Given the description of an element on the screen output the (x, y) to click on. 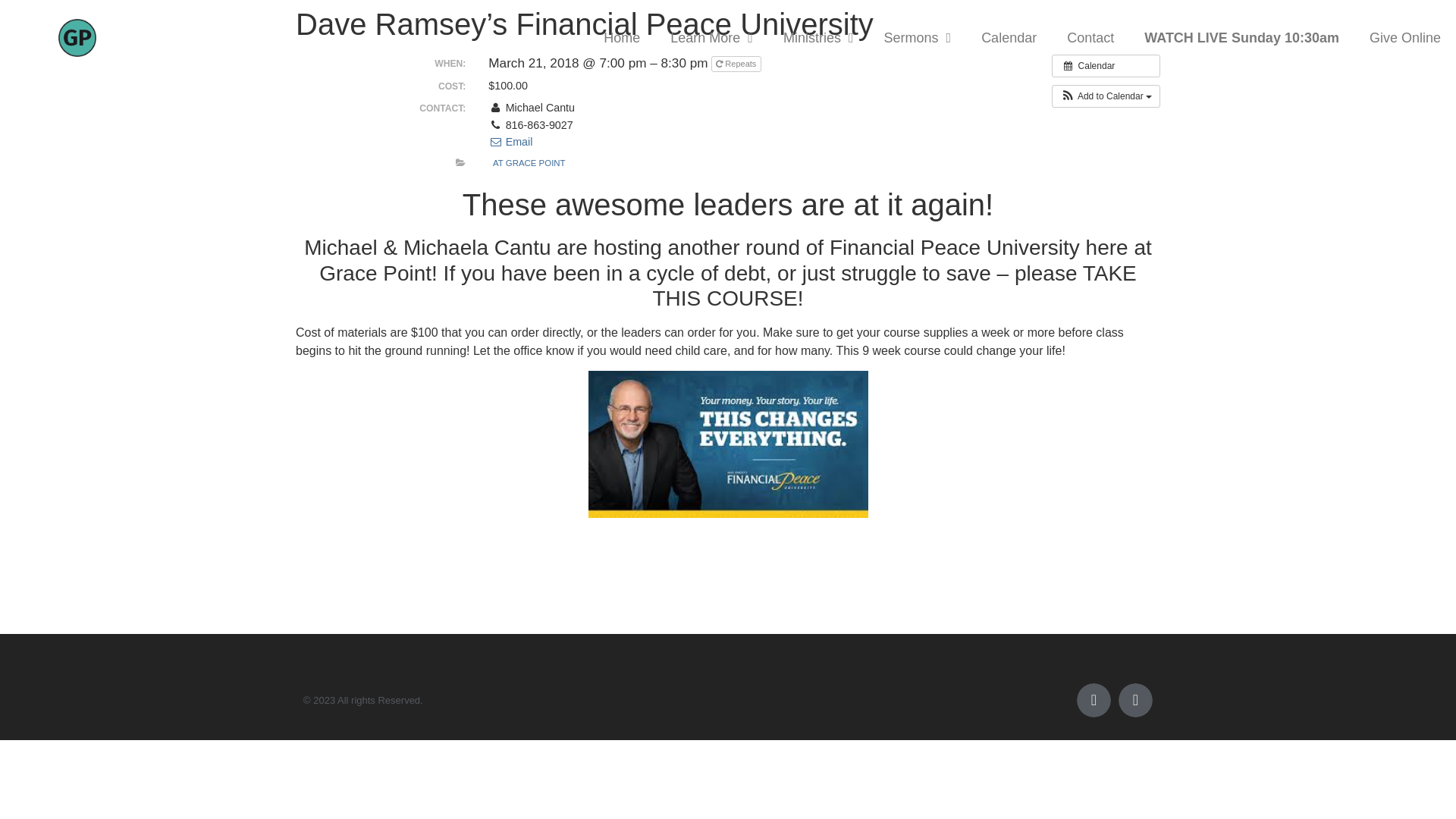
Ministries (818, 37)
Weekly on Wednesday for 9 occurrences (736, 64)
Categories (460, 162)
Contact (1090, 37)
Sermons (917, 37)
Site Logo (77, 37)
Learn More (711, 37)
Calendar (1008, 37)
View all events (1105, 65)
Home (621, 37)
WATCH LIVE Sunday 10:30am (1241, 37)
